Given the description of an element on the screen output the (x, y) to click on. 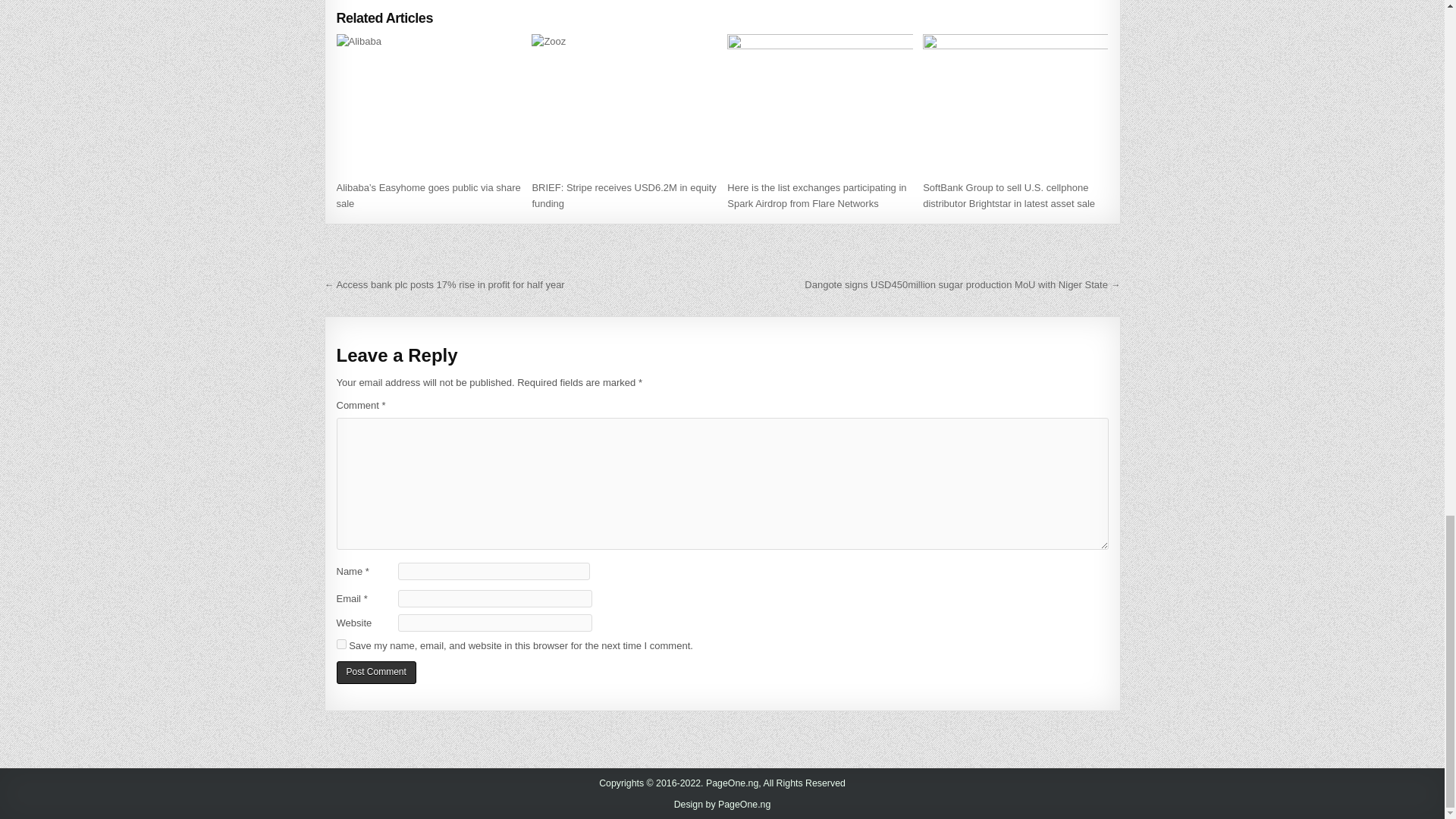
yes (341, 644)
Post Comment (376, 672)
